Given the description of an element on the screen output the (x, y) to click on. 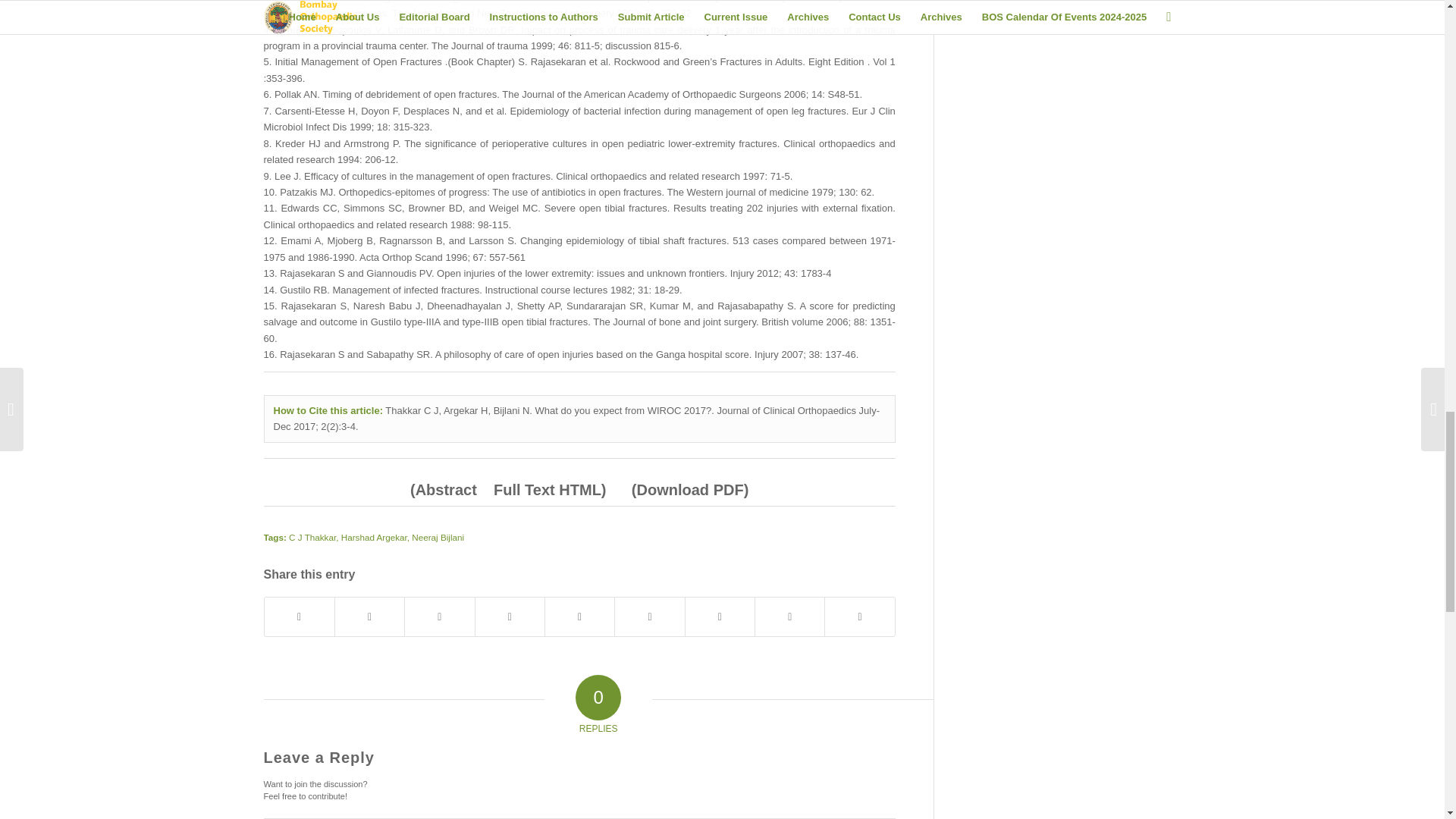
Abstract    Full Text HTML (507, 489)
C J Thakkar (312, 537)
Download PDF (690, 489)
Harshad Argekar (373, 537)
Neeraj Bijlani (438, 537)
